Given the description of an element on the screen output the (x, y) to click on. 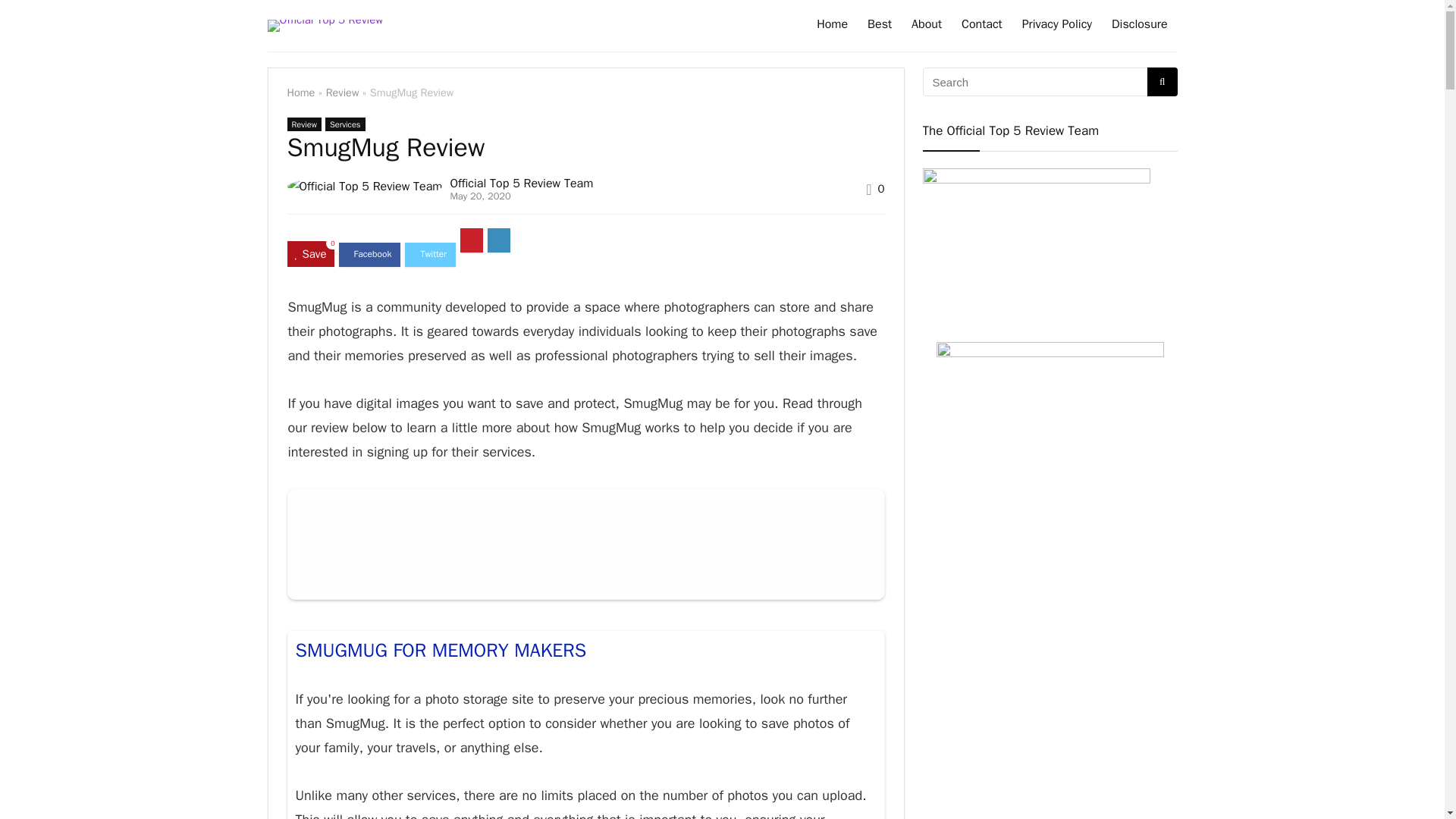
Review (303, 124)
View all posts in Services (344, 124)
Disclosure (1139, 25)
Official Top 5 Review Team (520, 183)
About (926, 25)
Best (879, 25)
Services (344, 124)
Review (342, 92)
View all posts in Review (303, 124)
Home (300, 92)
Contact (981, 25)
Privacy Policy (1056, 25)
Home (831, 25)
